Given the description of an element on the screen output the (x, y) to click on. 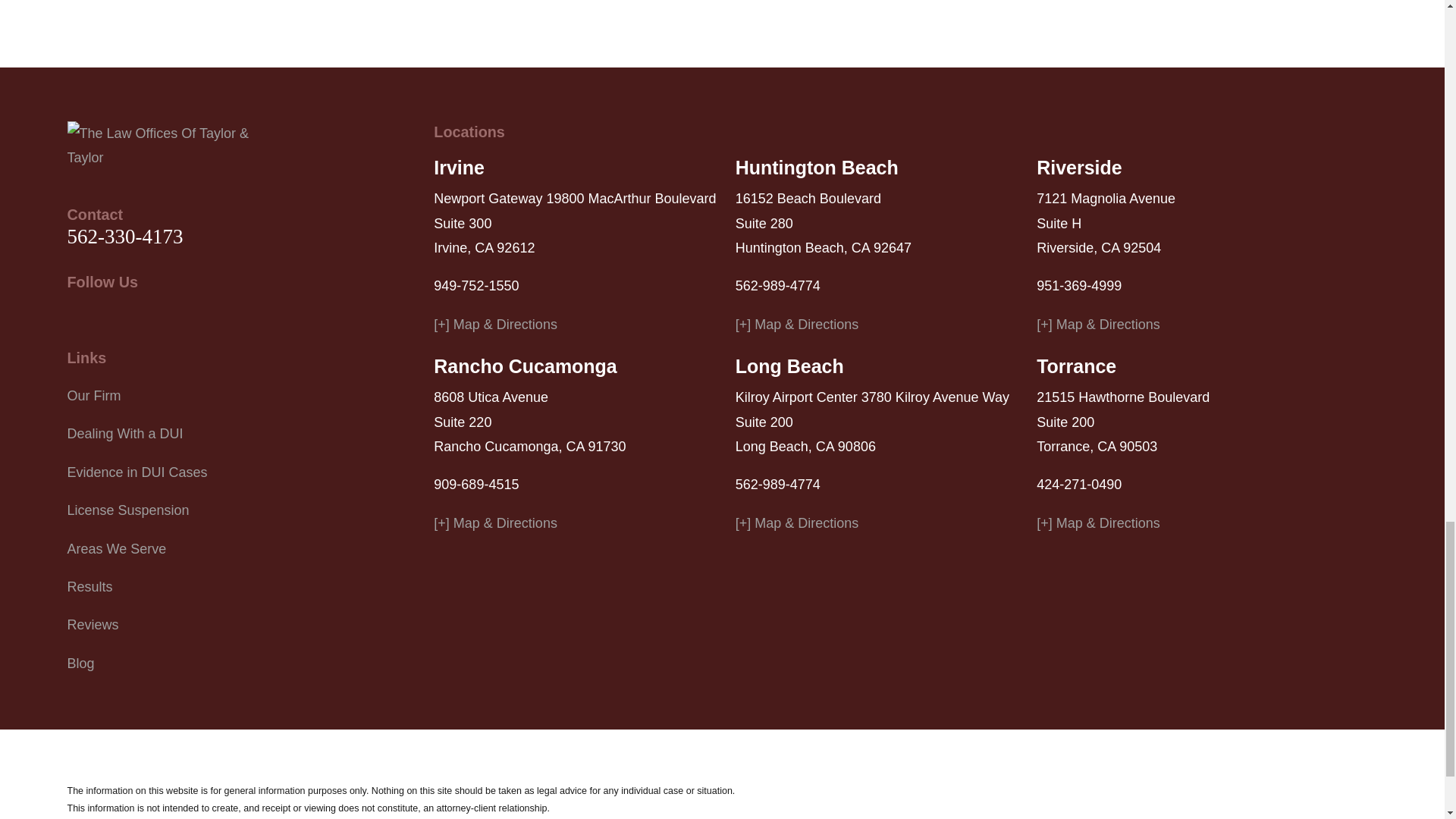
Facebook (115, 316)
Twitter (75, 316)
Home (175, 145)
